Given the description of an element on the screen output the (x, y) to click on. 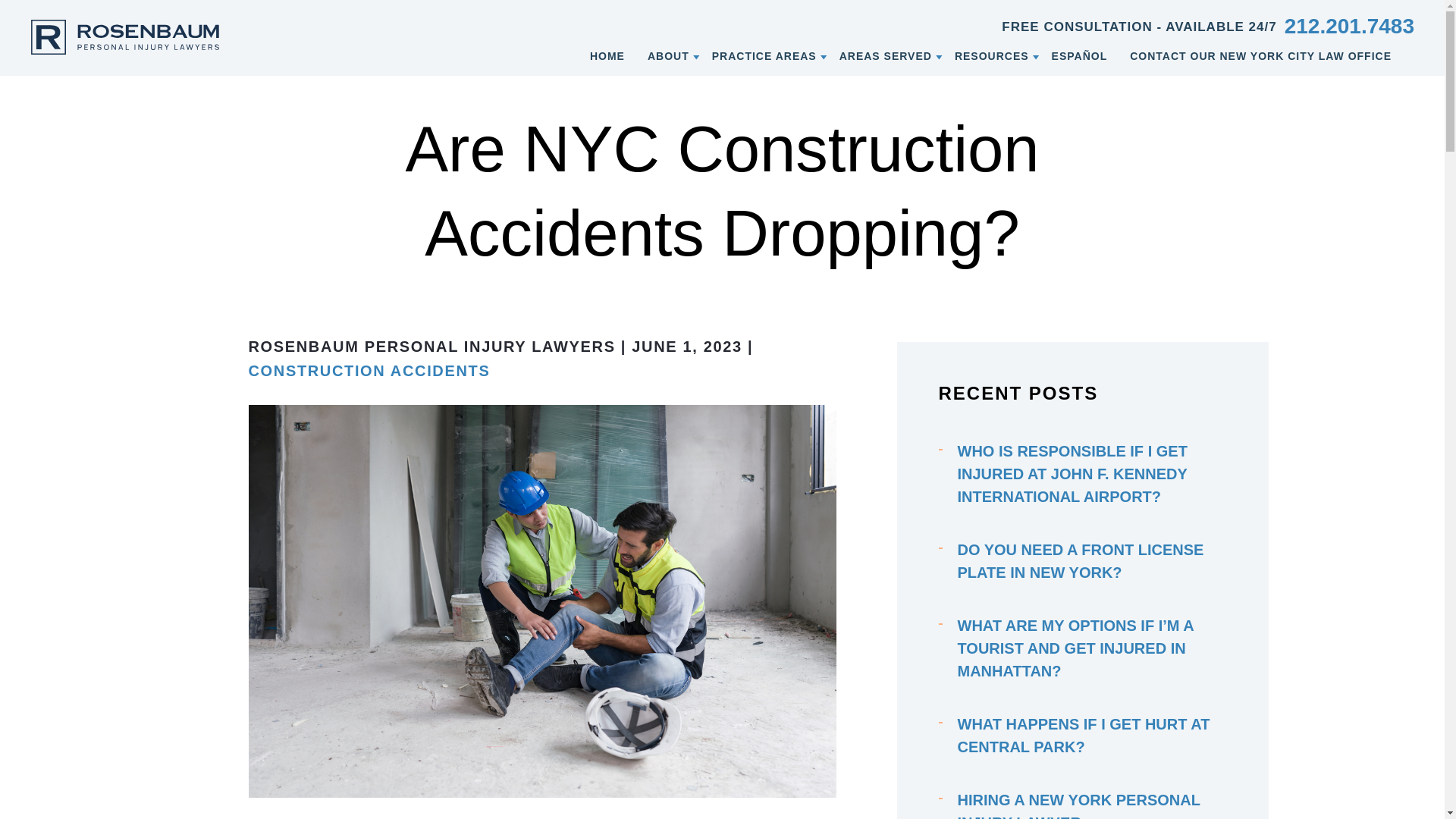
212.201.7483 (1348, 25)
HOME (606, 54)
Rosenbaum Personal Injury Lawyers logo (124, 36)
ABOUT (667, 54)
PRACTICE AREAS (763, 54)
